Given the description of an element on the screen output the (x, y) to click on. 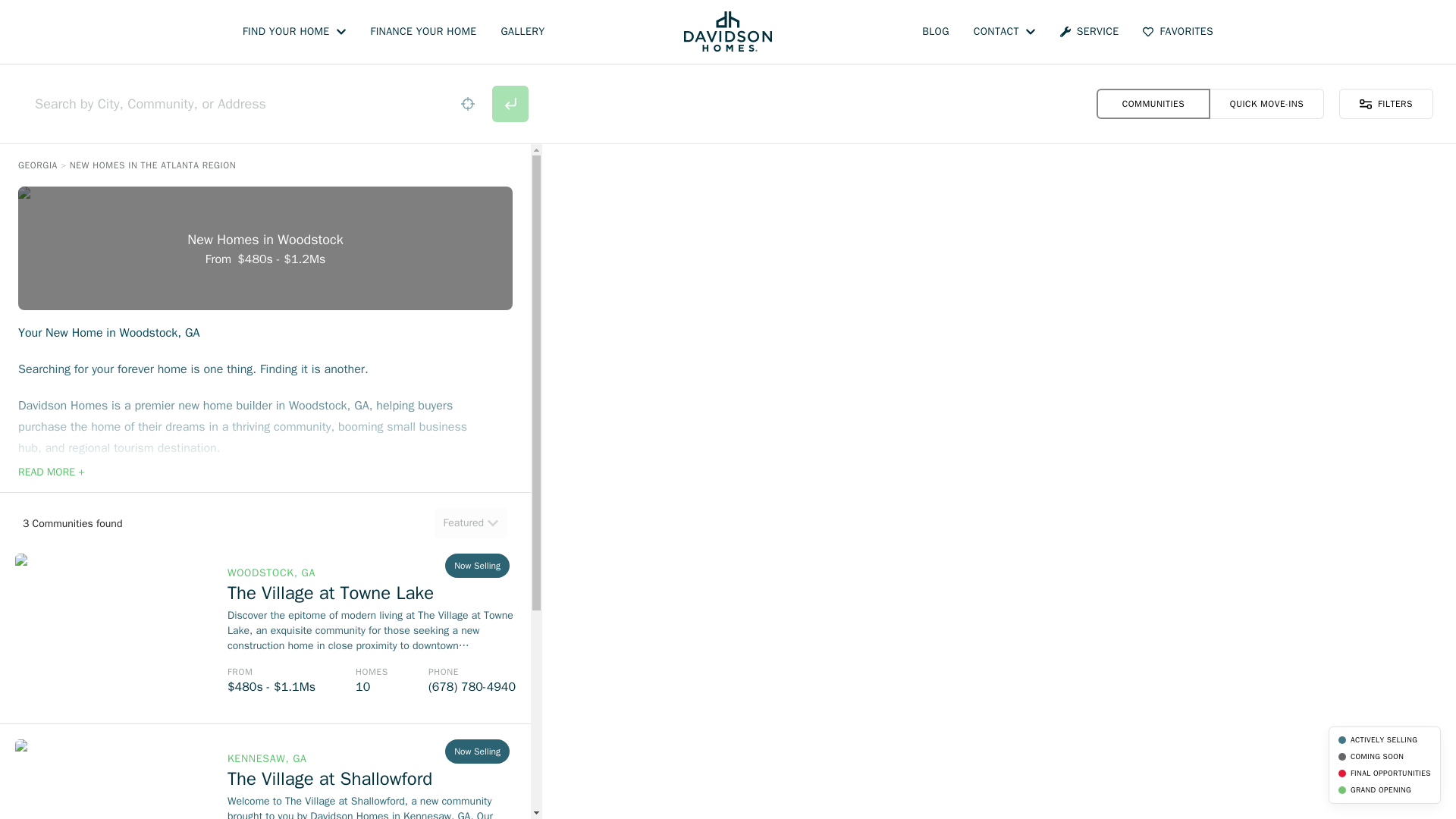
Use current location (467, 103)
QUICK MOVE-INS (1266, 103)
GALLERY (522, 31)
FIND YOUR HOME (294, 31)
COMMUNITIES (1152, 103)
CONTACT (1004, 31)
SERVICE (1089, 31)
BLOG (935, 31)
GEORGIA (37, 164)
NEW HOMES IN THE ATLANTA REGION (152, 164)
FINANCE YOUR HOME (424, 31)
FILTERS (1385, 103)
FAVORITES (1177, 31)
